Given the description of an element on the screen output the (x, y) to click on. 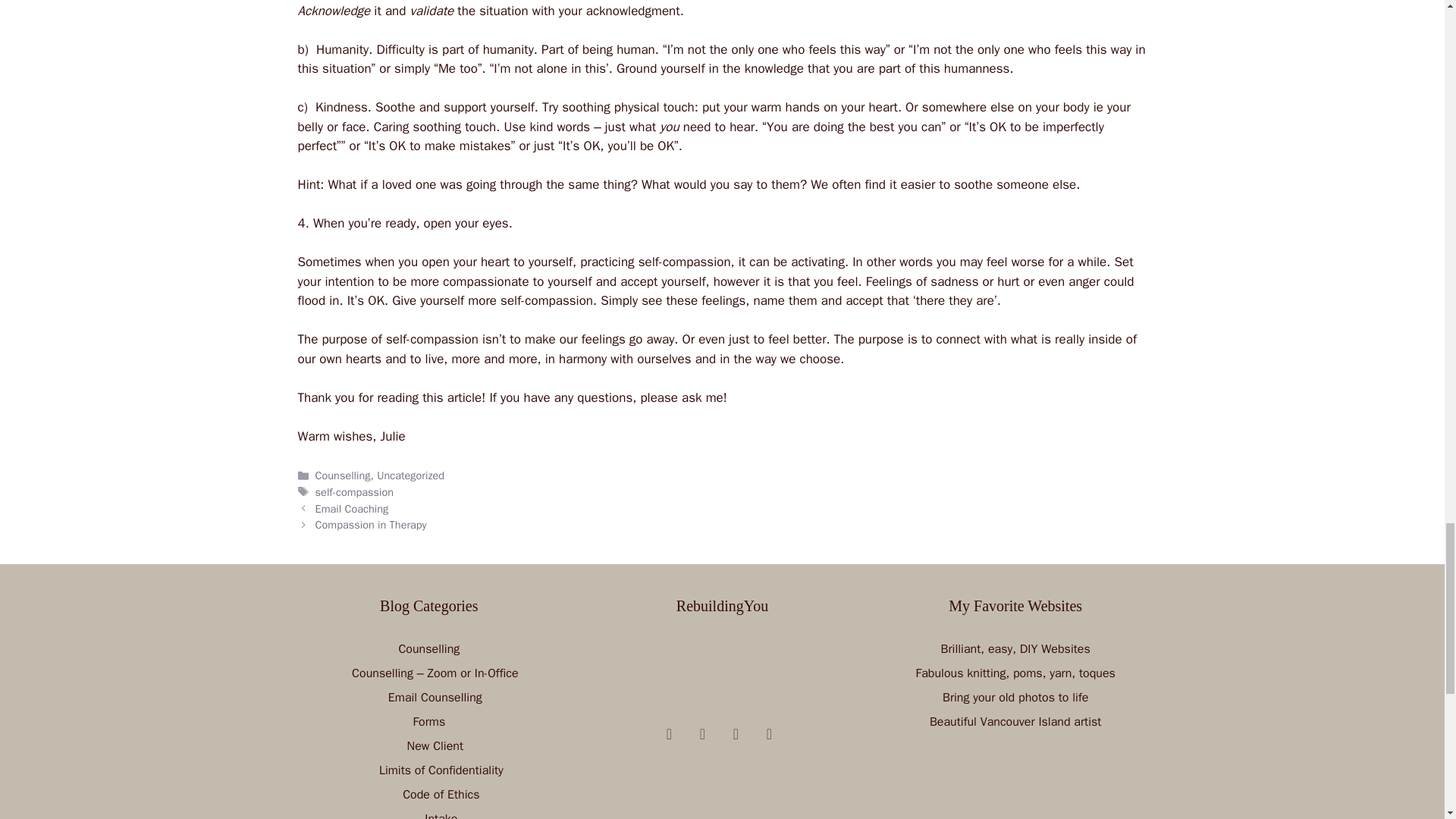
LinkedIn (768, 733)
Twitter (735, 733)
YouTube (668, 733)
RSS (702, 733)
